Given the description of an element on the screen output the (x, y) to click on. 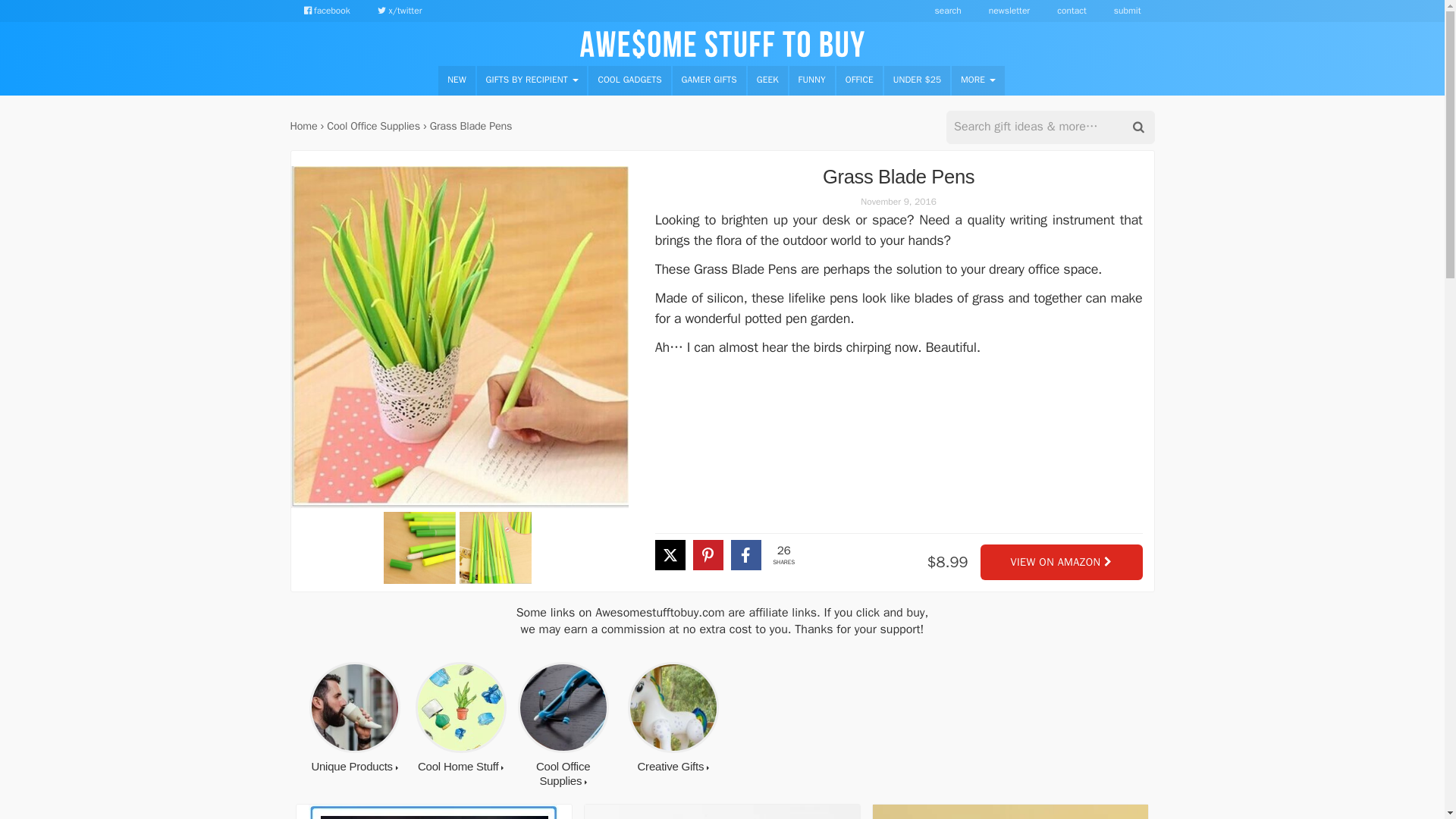
GIFTS BY RECIPIENT (532, 80)
contact (1071, 10)
Submit product (1127, 10)
Cool Office Supplies (373, 125)
Join our Newsletter (1008, 10)
facebook (325, 10)
Cool Gadgets (628, 80)
Home (303, 125)
MORE (978, 80)
newsletter (1008, 10)
NEW (456, 80)
OFFICE (858, 80)
COOL GADGETS (628, 80)
New (456, 80)
